Given the description of an element on the screen output the (x, y) to click on. 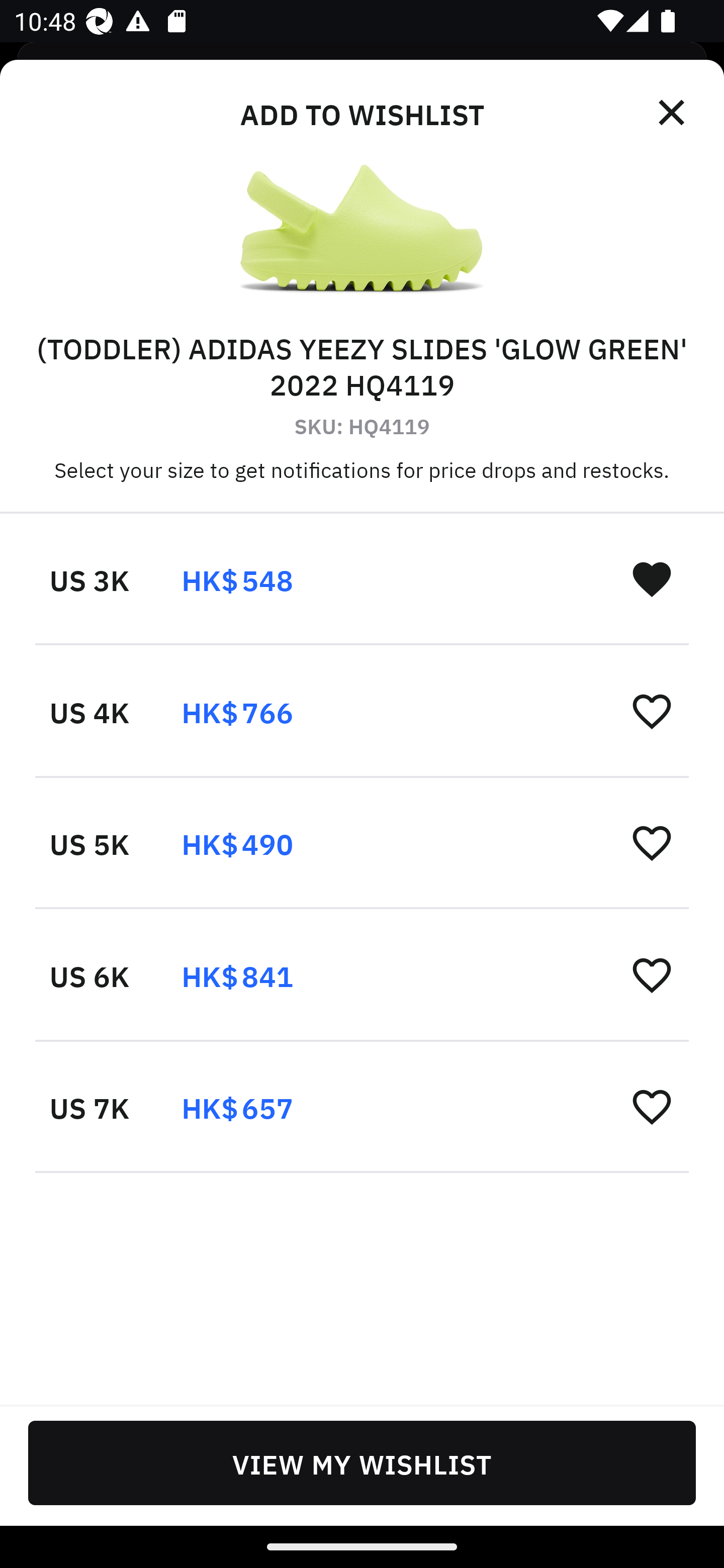
 (672, 112)
󰋑 (651, 578)
󰋕 (651, 710)
󰋕 (651, 842)
󰋕 (651, 974)
󰋕 (651, 1105)
VIEW MY WISHLIST (361, 1462)
